Given the description of an element on the screen output the (x, y) to click on. 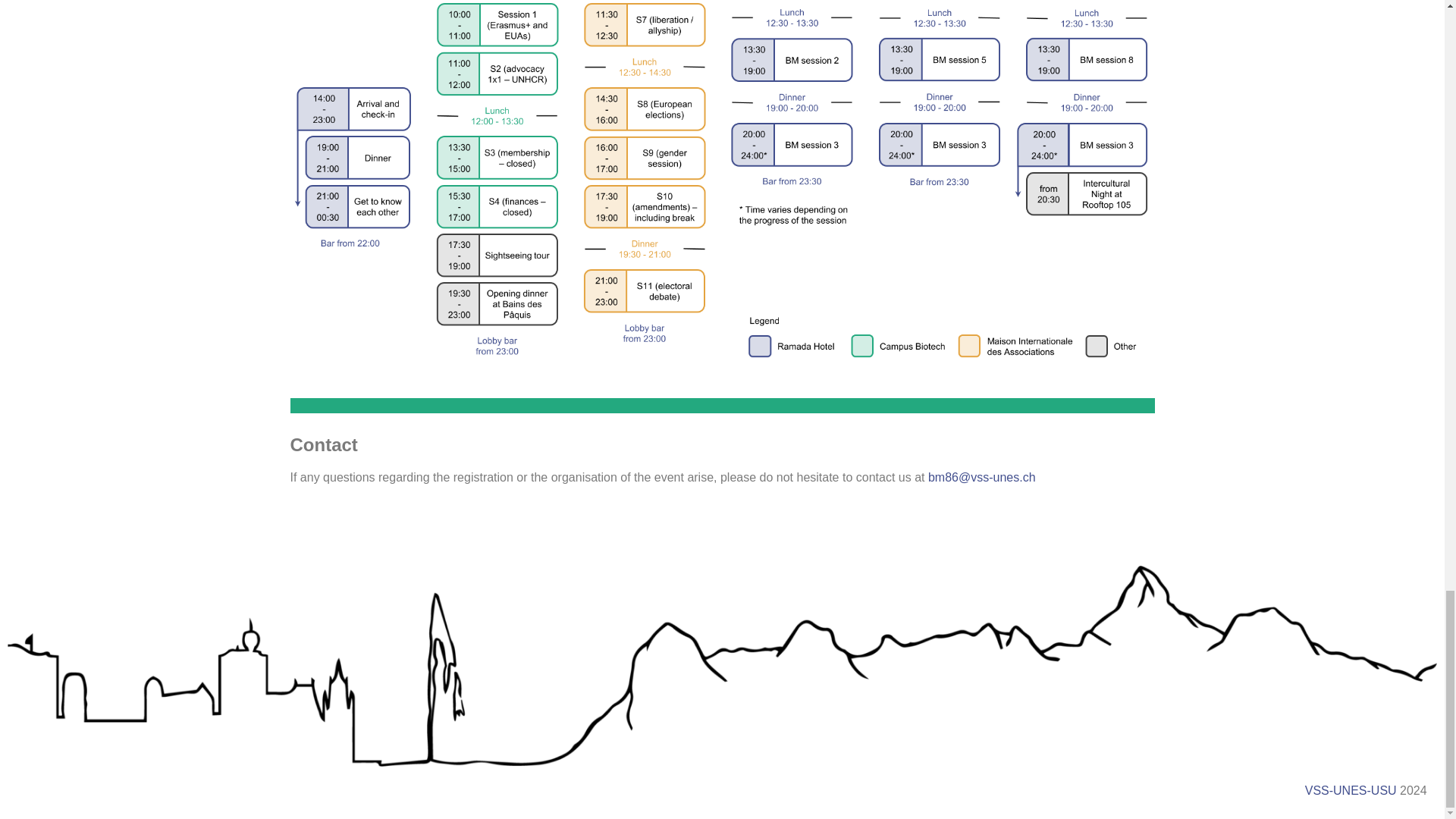
VSS-UNES-USU (1350, 789)
